Given the description of an element on the screen output the (x, y) to click on. 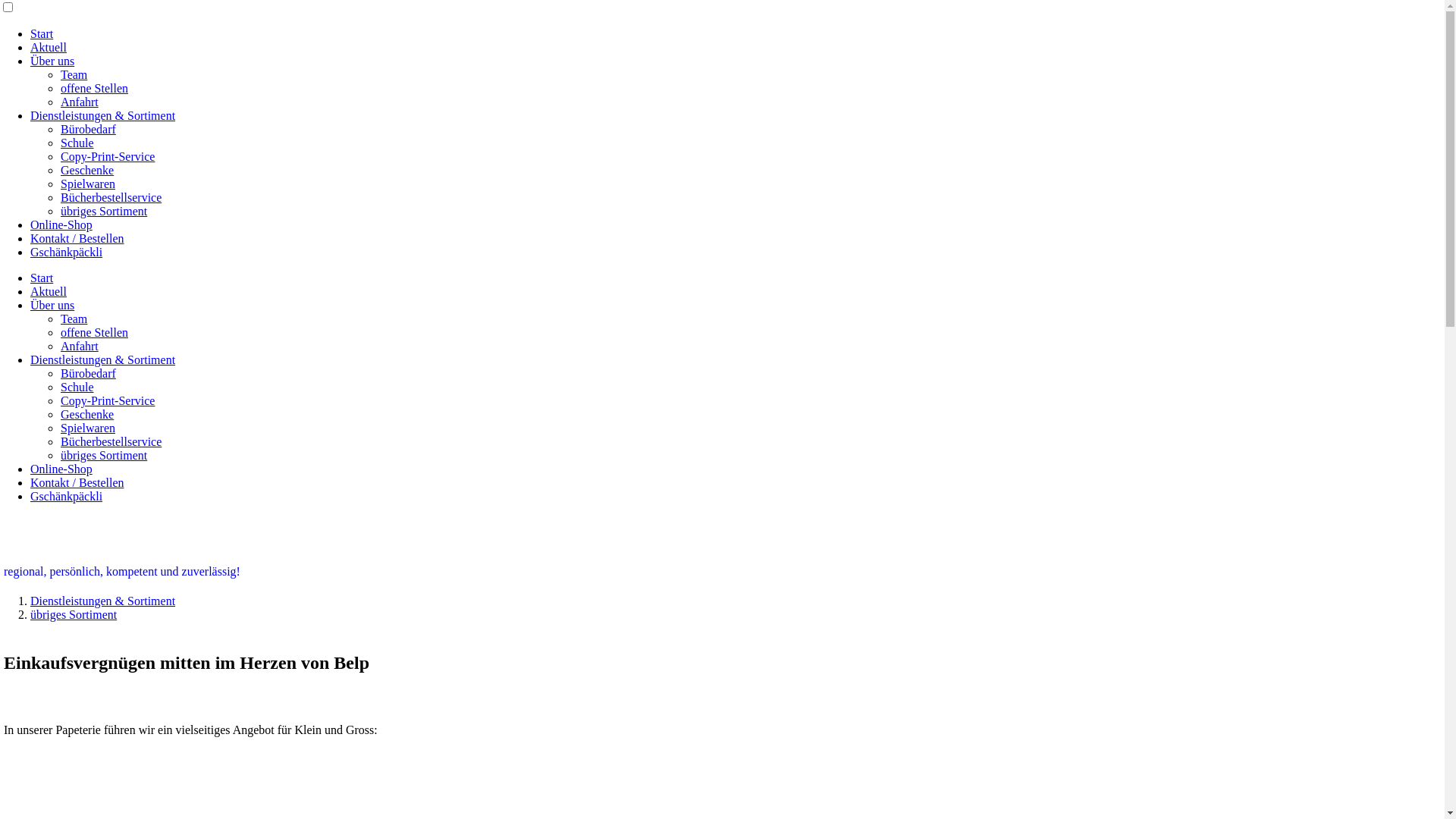
Anfahrt Element type: text (79, 345)
Anfahrt Element type: text (79, 101)
Dienstleistungen & Sortiment Element type: text (102, 115)
Copy-Print-Service Element type: text (107, 400)
Aktuell Element type: text (48, 46)
Team Element type: text (73, 74)
Online-Shop Element type: text (61, 224)
Geschenke Element type: text (86, 413)
Copy-Print-Service Element type: text (107, 156)
Spielwaren Element type: text (87, 183)
Aktuell Element type: text (48, 291)
Start Element type: text (41, 33)
offene Stellen Element type: text (94, 332)
Schule Element type: text (77, 142)
Geschenke Element type: text (86, 169)
Dienstleistungen & Sortiment Element type: text (102, 359)
Team Element type: text (73, 318)
Schule Element type: text (77, 386)
Dienstleistungen & Sortiment Element type: text (102, 600)
Online-Shop Element type: text (61, 468)
Spielwaren Element type: text (87, 427)
Kontakt / Bestellen Element type: text (77, 482)
Start Element type: text (41, 277)
offene Stellen Element type: text (94, 87)
Kontakt / Bestellen Element type: text (77, 238)
